Given the description of an element on the screen output the (x, y) to click on. 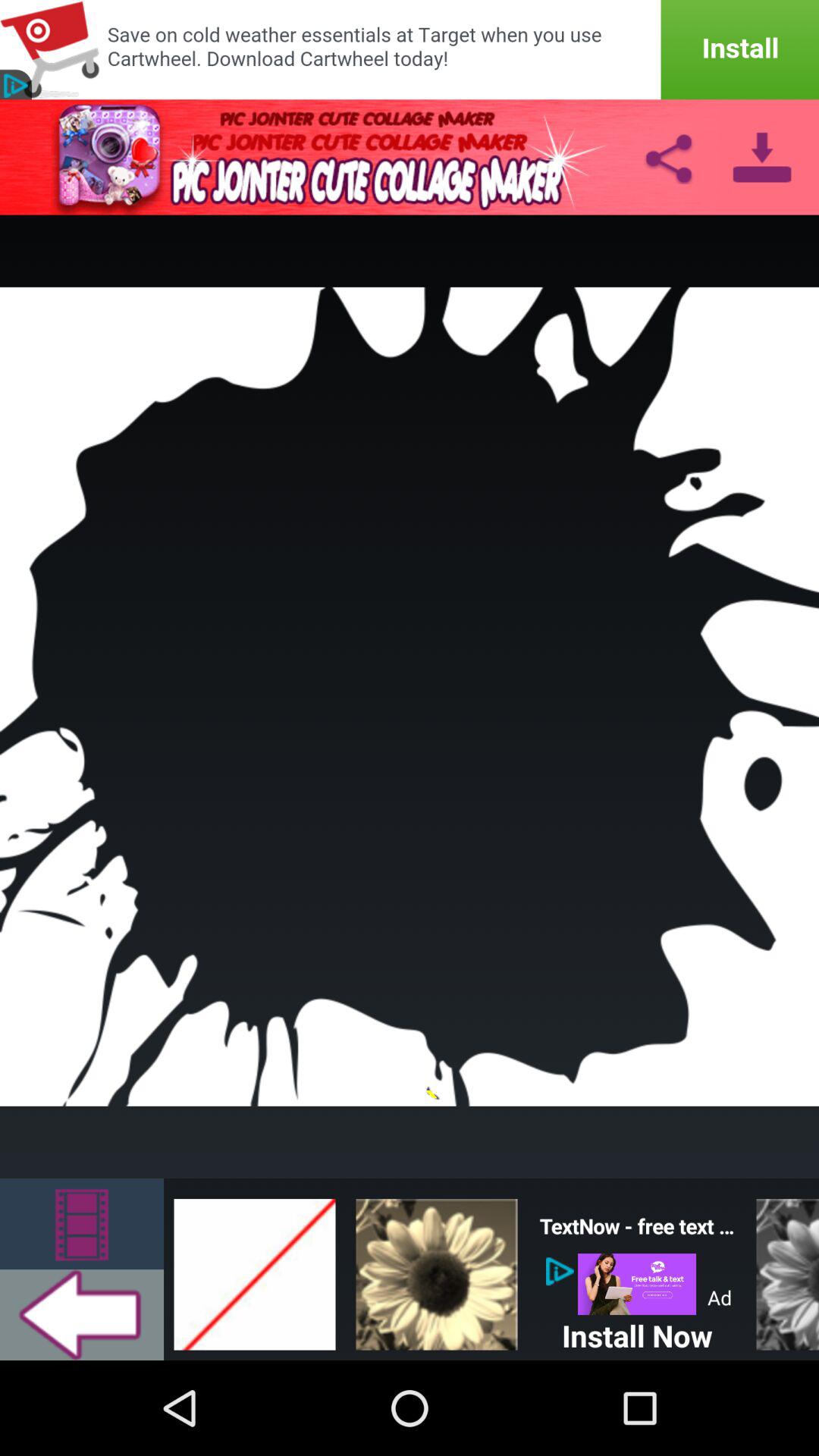
view image (436, 1269)
